Given the description of an element on the screen output the (x, y) to click on. 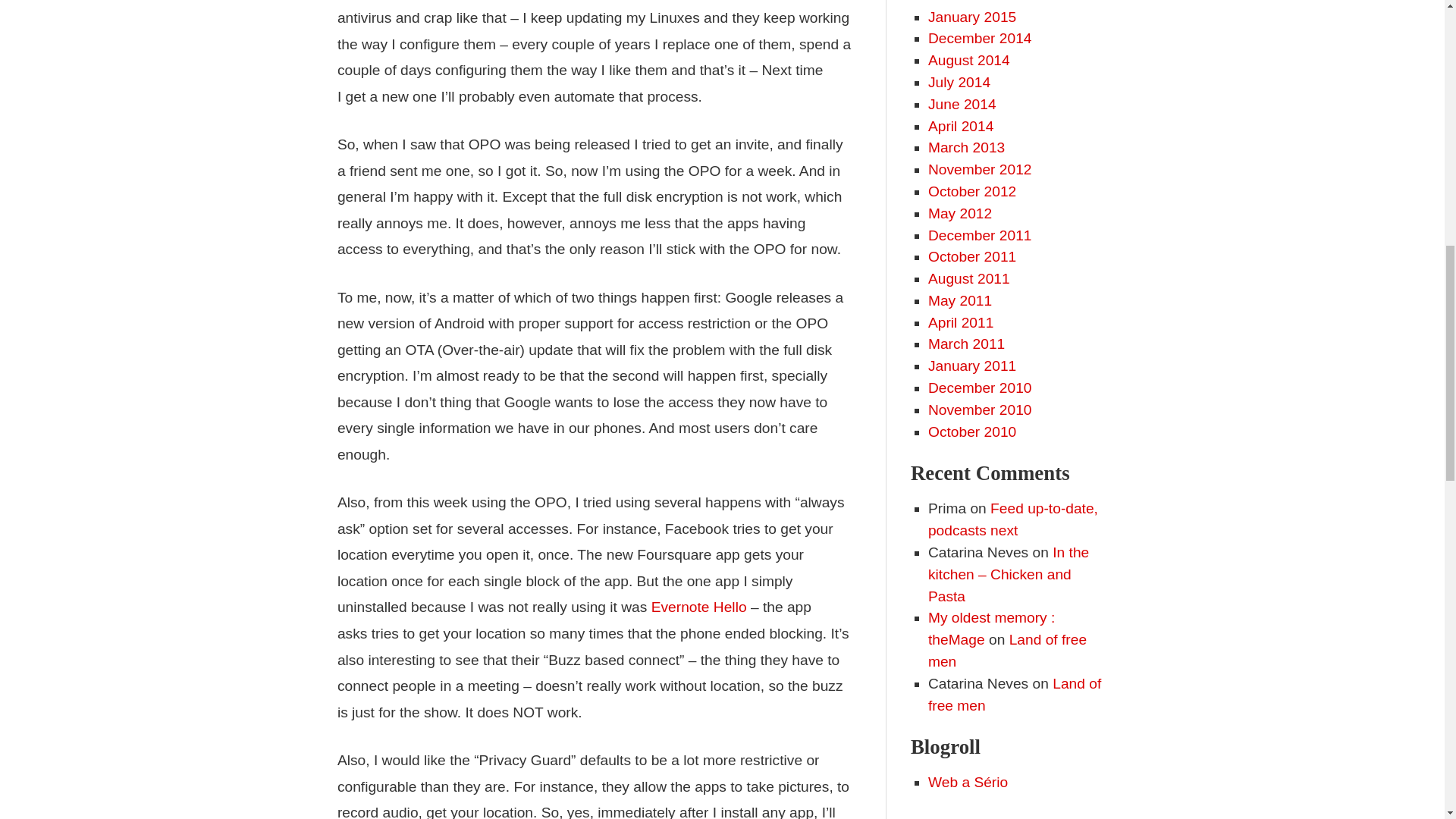
Evernote Hello (698, 606)
Evernote Hello (698, 606)
March 2015 (966, 1)
